Given the description of an element on the screen output the (x, y) to click on. 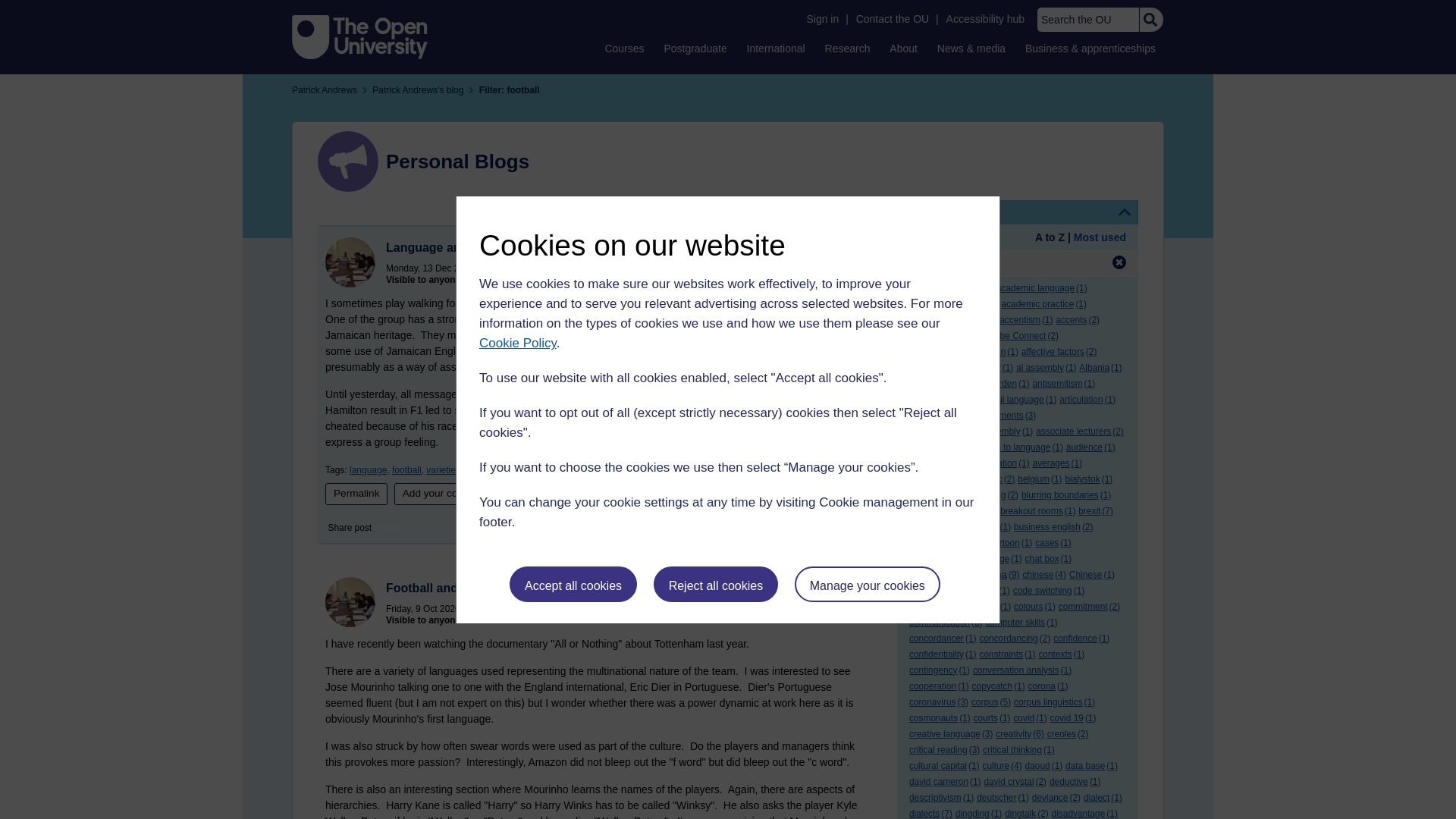
International (775, 48)
Click to remove filter tag (1118, 262)
Help with Order: (951, 238)
Postgraduate (695, 48)
Cookie Policy (517, 342)
Manage your cookies (867, 583)
Sign in (822, 19)
Tags (1017, 211)
Search (1149, 19)
Search (1149, 19)
About (903, 48)
Courses (623, 48)
Accept all cookies (573, 583)
Contact the OU (892, 19)
